Given the description of an element on the screen output the (x, y) to click on. 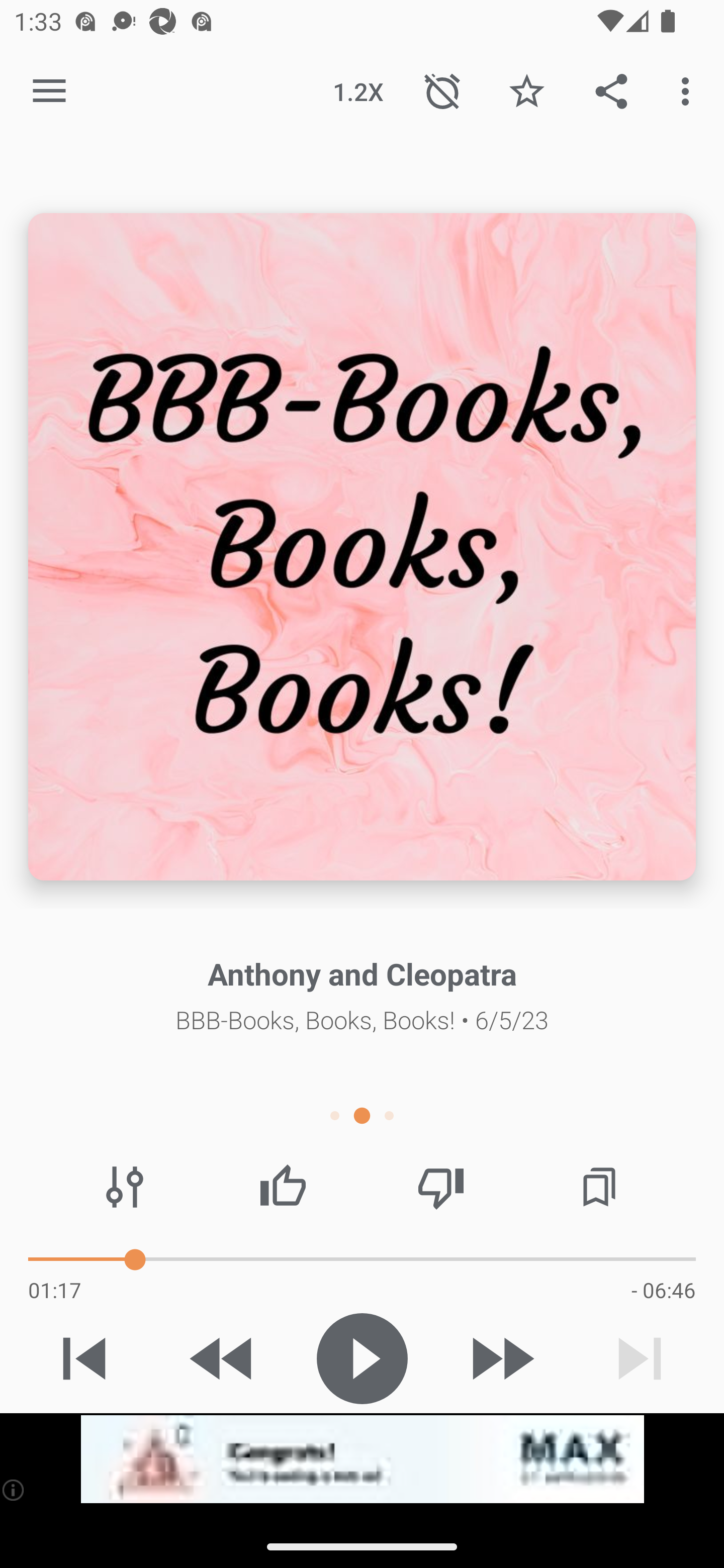
Open navigation sidebar (49, 91)
1.2X (357, 90)
Sleep Timer (442, 90)
Favorite (526, 90)
Share (611, 90)
More options (688, 90)
Episode description (361, 547)
Audio effects (124, 1186)
Thumbs up (283, 1186)
Thumbs down (440, 1186)
Chapters / Bookmarks (598, 1186)
- 06:46 (663, 1289)
Previous track (84, 1358)
Skip 15s backward (222, 1358)
Play / Pause (362, 1358)
Skip 30s forward (500, 1358)
Next track (639, 1358)
app-monetization (362, 1459)
(i) (14, 1489)
